Given the description of an element on the screen output the (x, y) to click on. 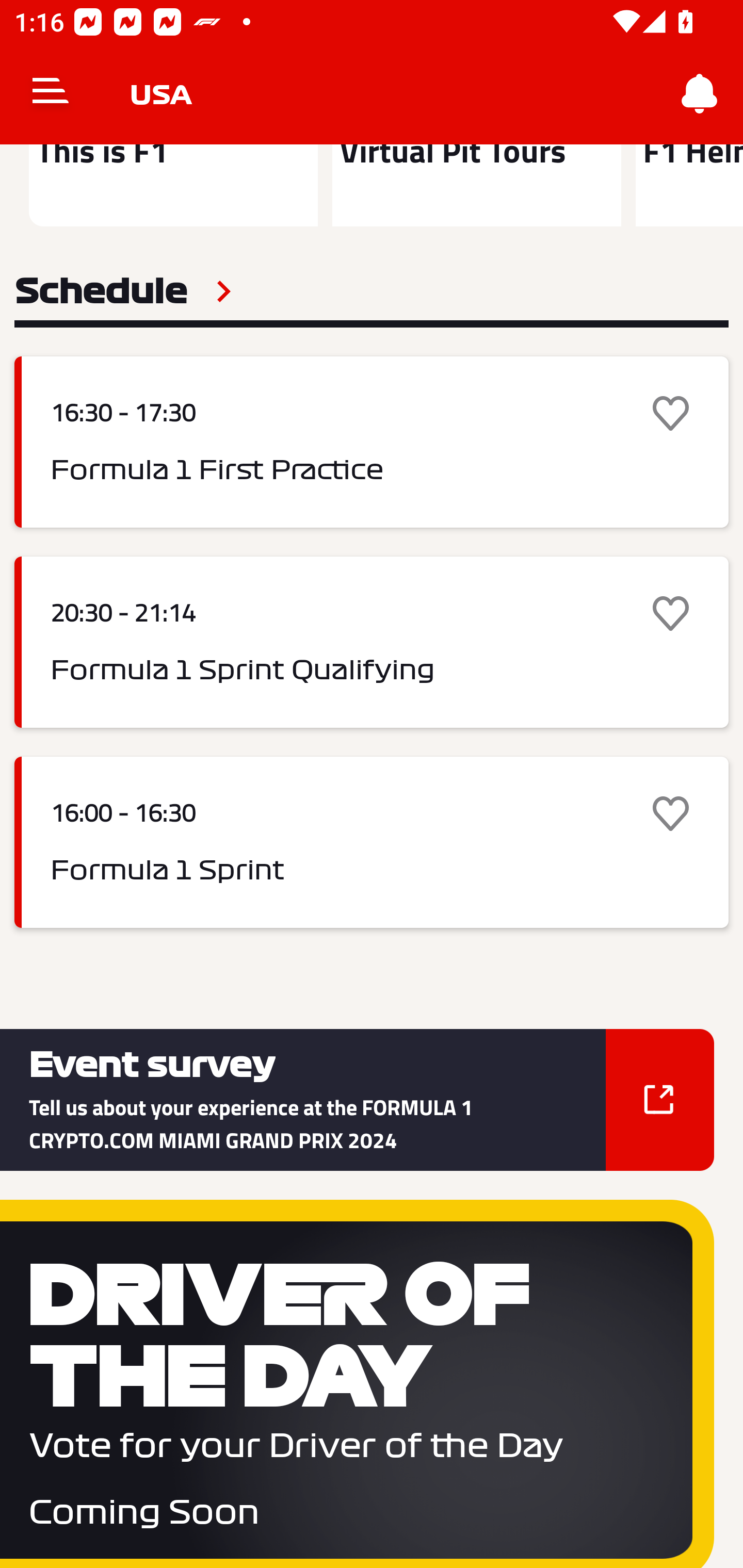
Navigate up (50, 93)
Notifications (699, 93)
This is F1 (173, 184)
Virtual Pit Tours (476, 184)
Schedule (122, 291)
16:30 - 17:30 Formula 1 First Practice (371, 441)
20:30 - 21:14 Formula 1 Sprint Qualifying (371, 641)
16:00 - 16:30 Formula 1 Sprint (371, 842)
